Given the description of an element on the screen output the (x, y) to click on. 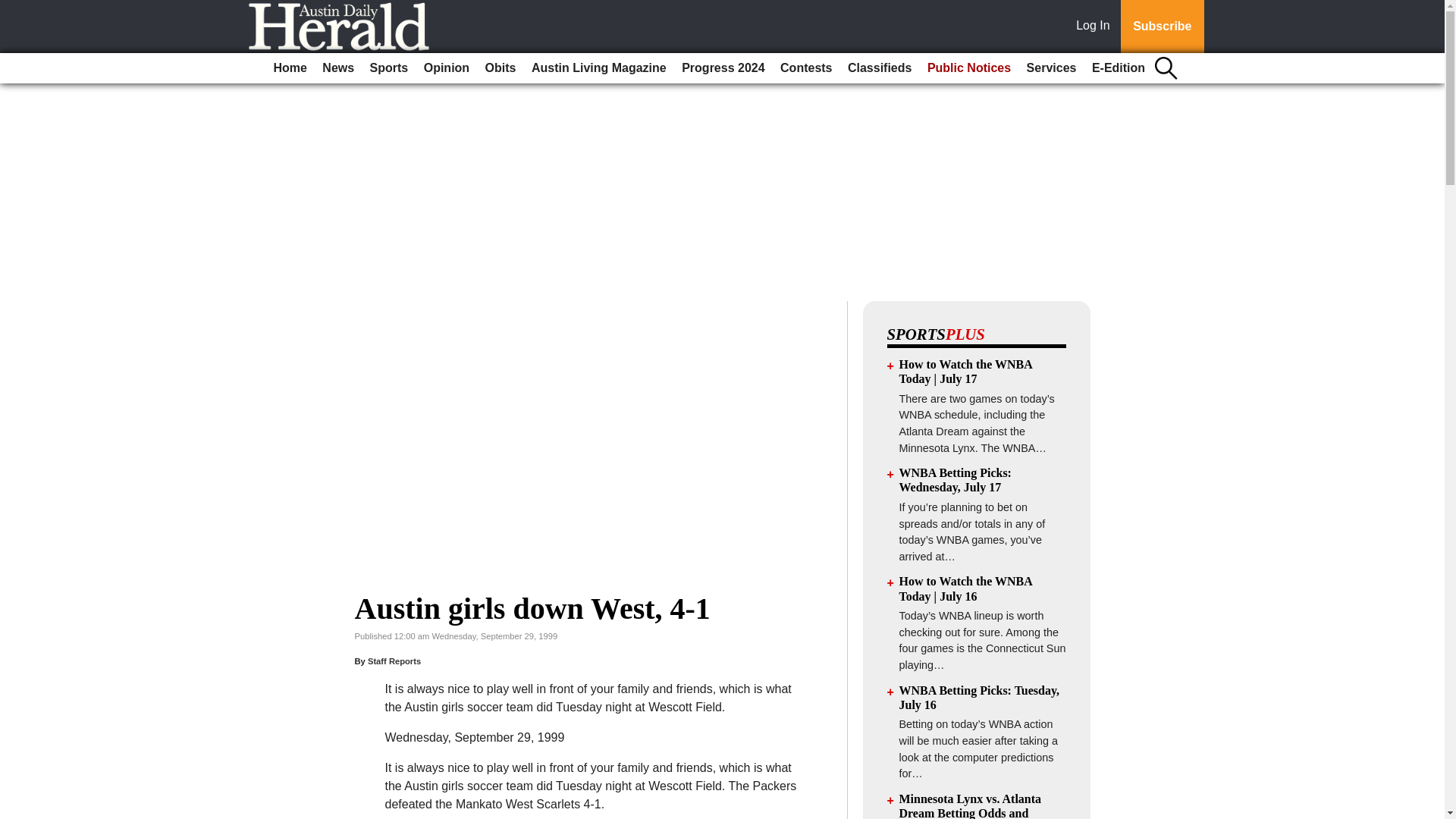
Progress 2024 (722, 68)
Opinion (446, 68)
Log In (1095, 26)
Austin Living Magazine (598, 68)
Obits (500, 68)
Contests (806, 68)
Subscribe (1162, 26)
News (337, 68)
Sports (389, 68)
Services (1051, 68)
Classifieds (879, 68)
Home (289, 68)
Public Notices (968, 68)
